Given the description of an element on the screen output the (x, y) to click on. 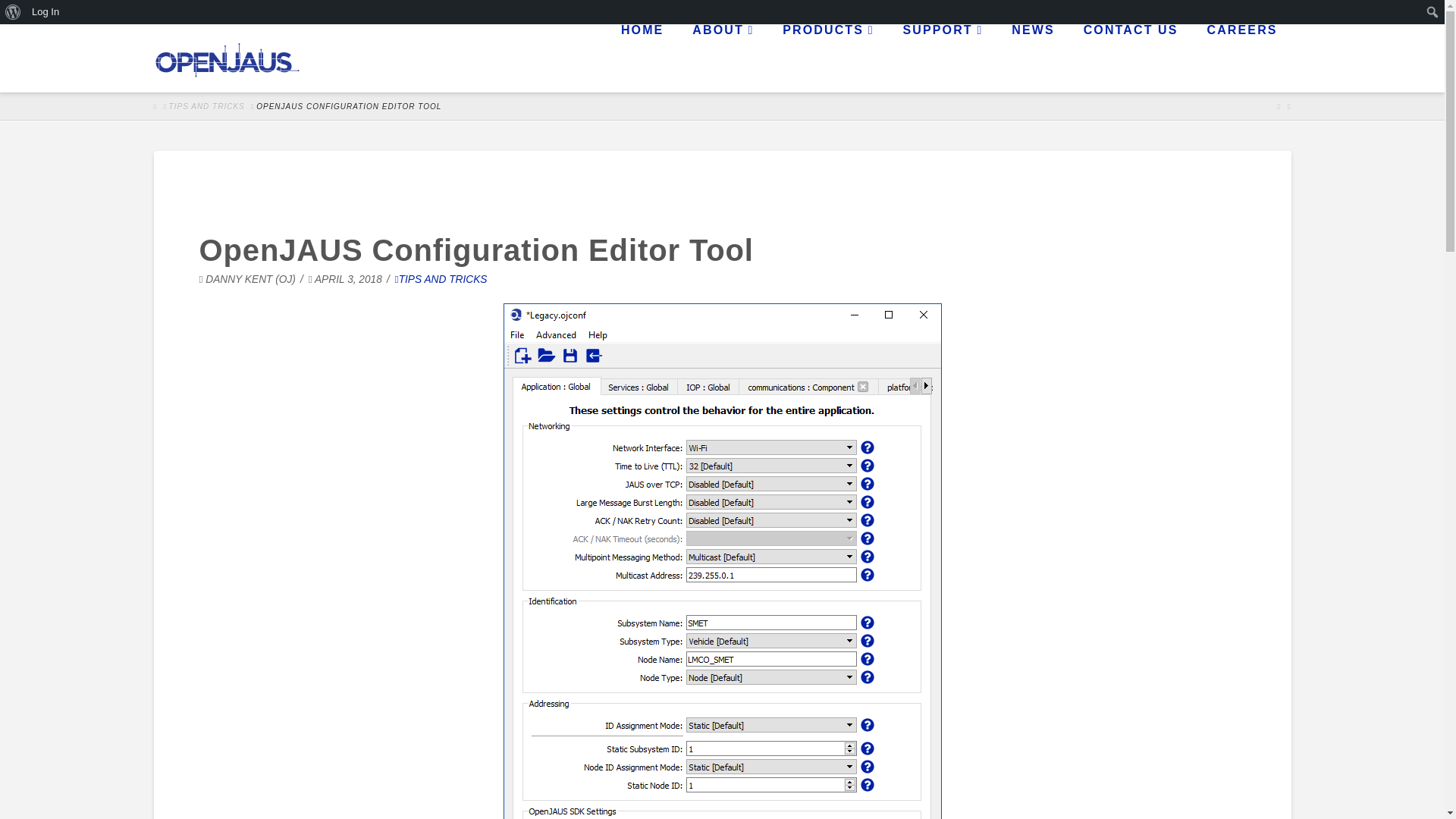
Log In (45, 12)
CAREERS (1240, 58)
ABOUT (722, 58)
Search (30, 24)
HOME (641, 58)
SUPPORT (942, 58)
You Are Here (348, 106)
NEWS (1031, 58)
CONTACT US (1130, 58)
PRODUCTS (826, 58)
